Given the description of an element on the screen output the (x, y) to click on. 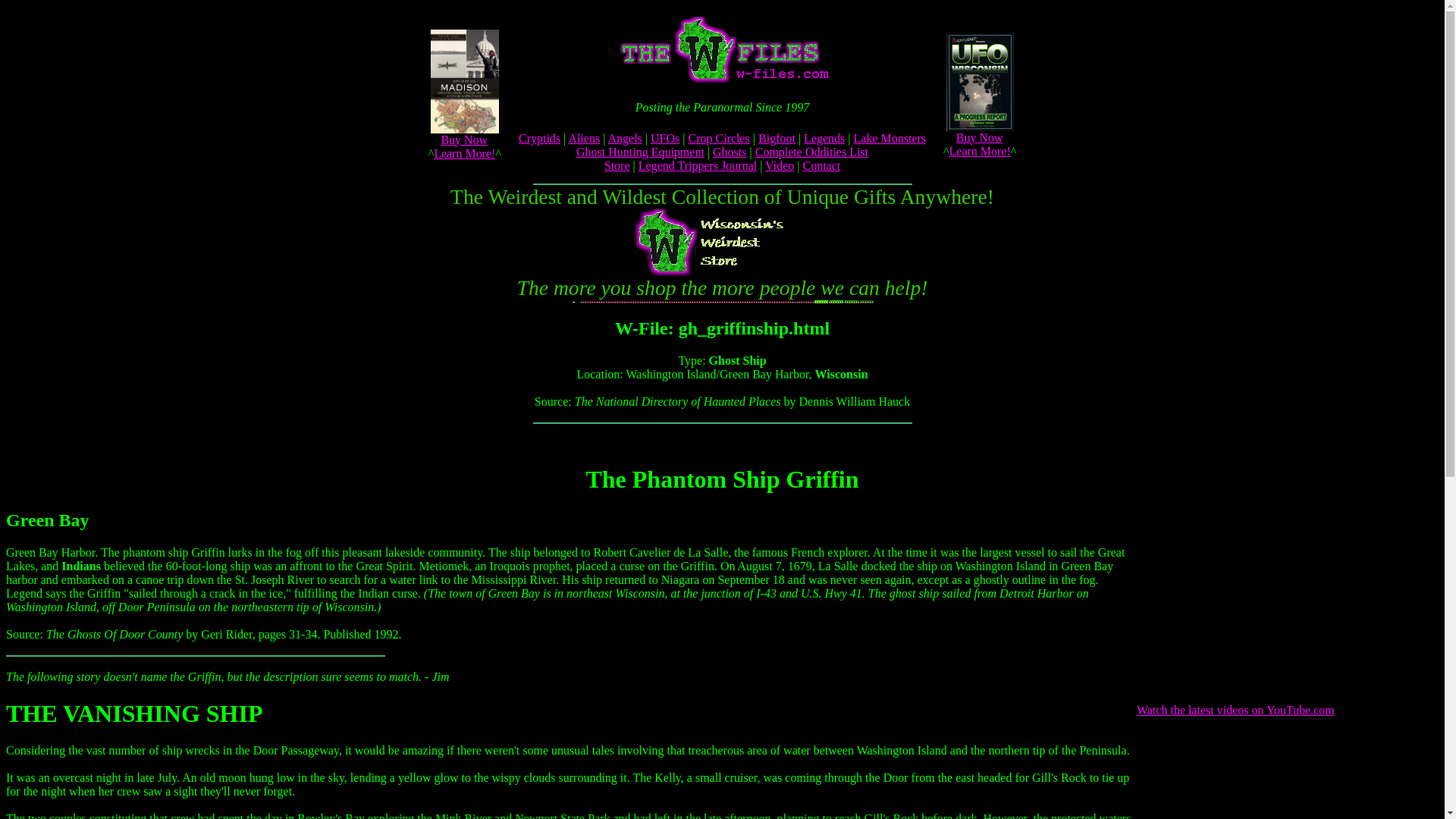
UFOs (664, 137)
Bigfoot (776, 137)
Learn More! (979, 150)
Buy Now (464, 139)
Watch the latest videos on YouTube.com (1236, 709)
Buy Now (979, 136)
Cryptids (539, 137)
Store (617, 164)
Learn More! (464, 153)
Contact (821, 164)
Ghost Hunting Equipment (640, 151)
Crop Circles (718, 137)
Complete Oddities List (811, 151)
Legend Trippers Journal (698, 164)
Angels (625, 137)
